Given the description of an element on the screen output the (x, y) to click on. 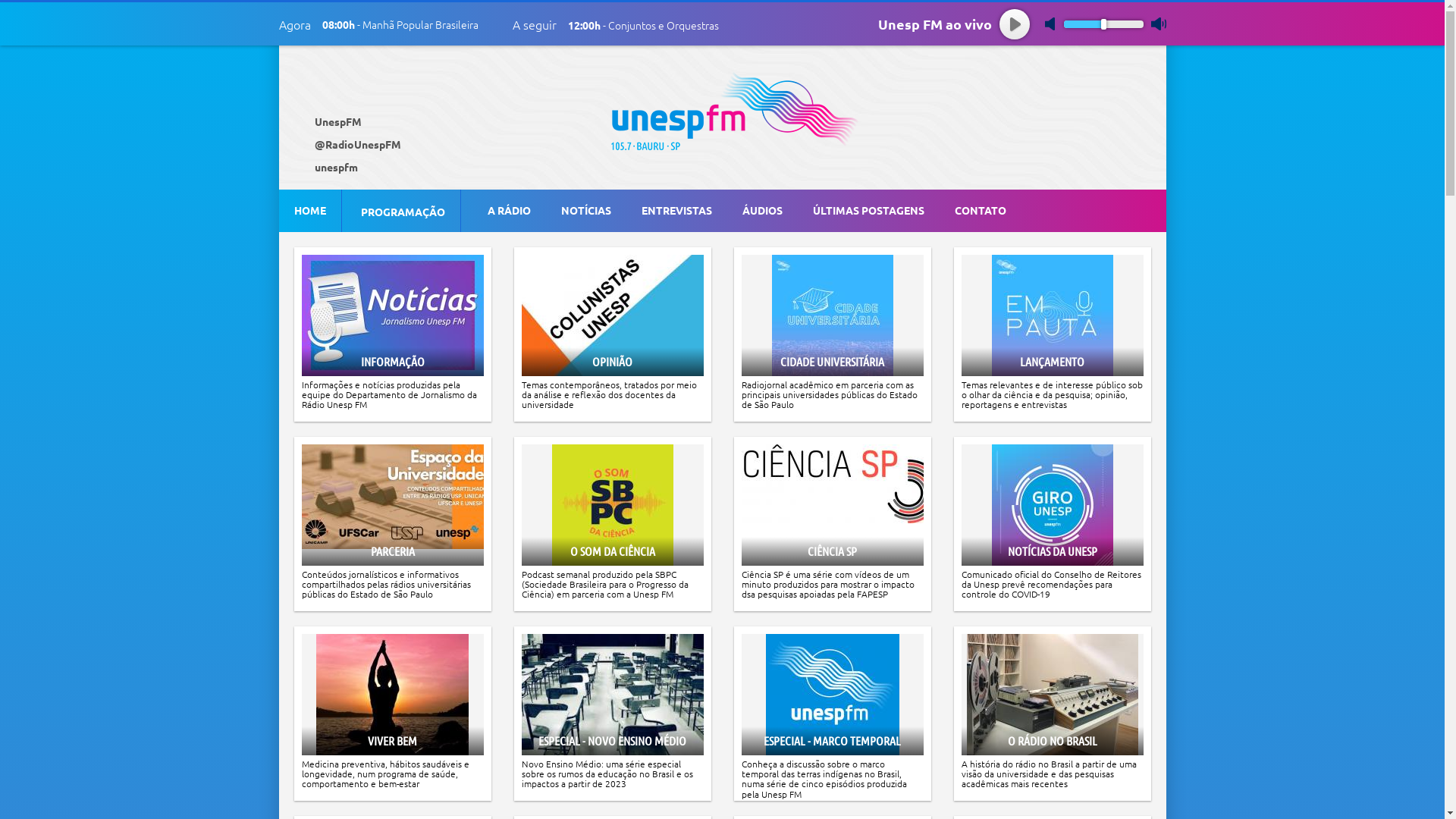
 unespfm Element type: text (333, 166)
CONTATO Element type: text (979, 209)
max volume Element type: text (1158, 23)
mute Element type: text (1052, 23)
HOME Element type: text (310, 209)
 @RadioUnespFM Element type: text (355, 143)
 UnespFM Element type: text (335, 120)
ENTREVISTAS Element type: text (676, 209)
play Element type: text (1014, 24)
